Given the description of an element on the screen output the (x, y) to click on. 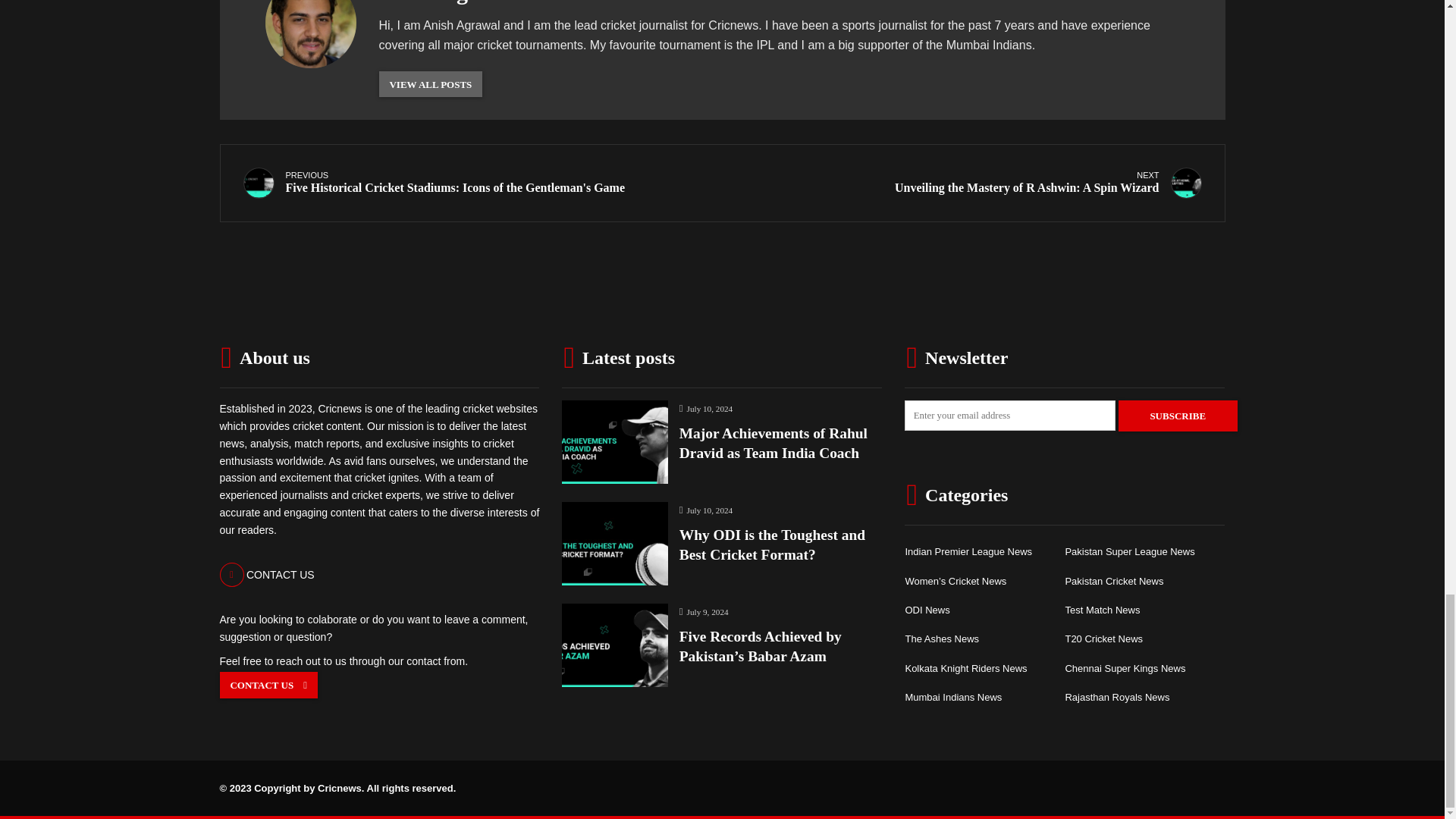
Subscribe (967, 183)
CONTACT US (1177, 415)
VIEW ALL POSTS (266, 574)
